Given the description of an element on the screen output the (x, y) to click on. 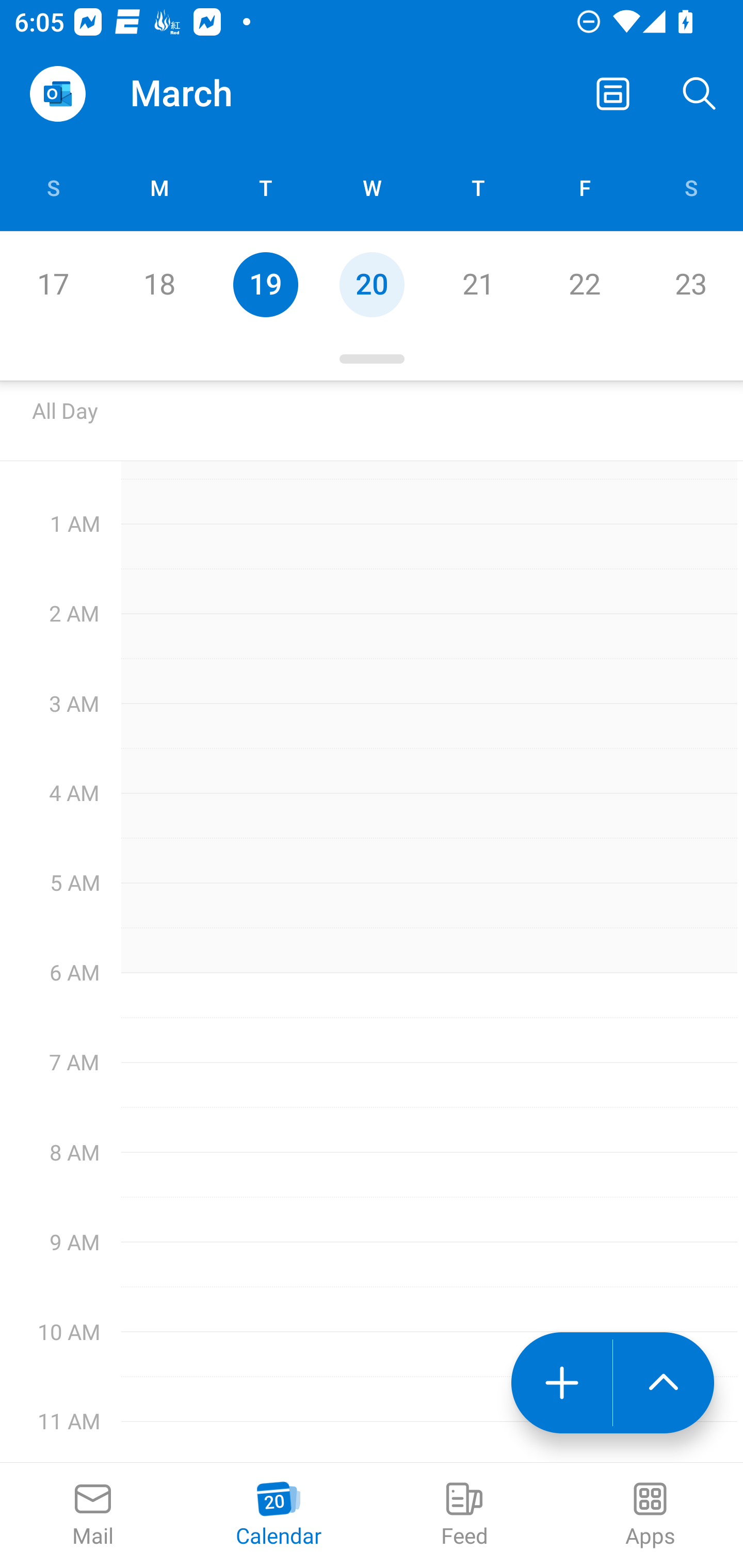
March March 2024, day picker (209, 93)
Switch away from Day view (612, 93)
Search, ,  (699, 93)
Open Navigation Drawer (57, 94)
17 Sunday, March 17 (53, 284)
18 Monday, March 18 (159, 284)
19 Tuesday, March 19, Selected (265, 284)
20 Wednesday, March 20, today (371, 284)
21 Thursday, March 21 (477, 284)
22 Friday, March 22 (584, 284)
23 Saturday, March 23 (690, 284)
Day picker (371, 359)
New event (561, 1382)
launch the extended action menu (663, 1382)
Mail (92, 1515)
Feed (464, 1515)
Apps (650, 1515)
